Given the description of an element on the screen output the (x, y) to click on. 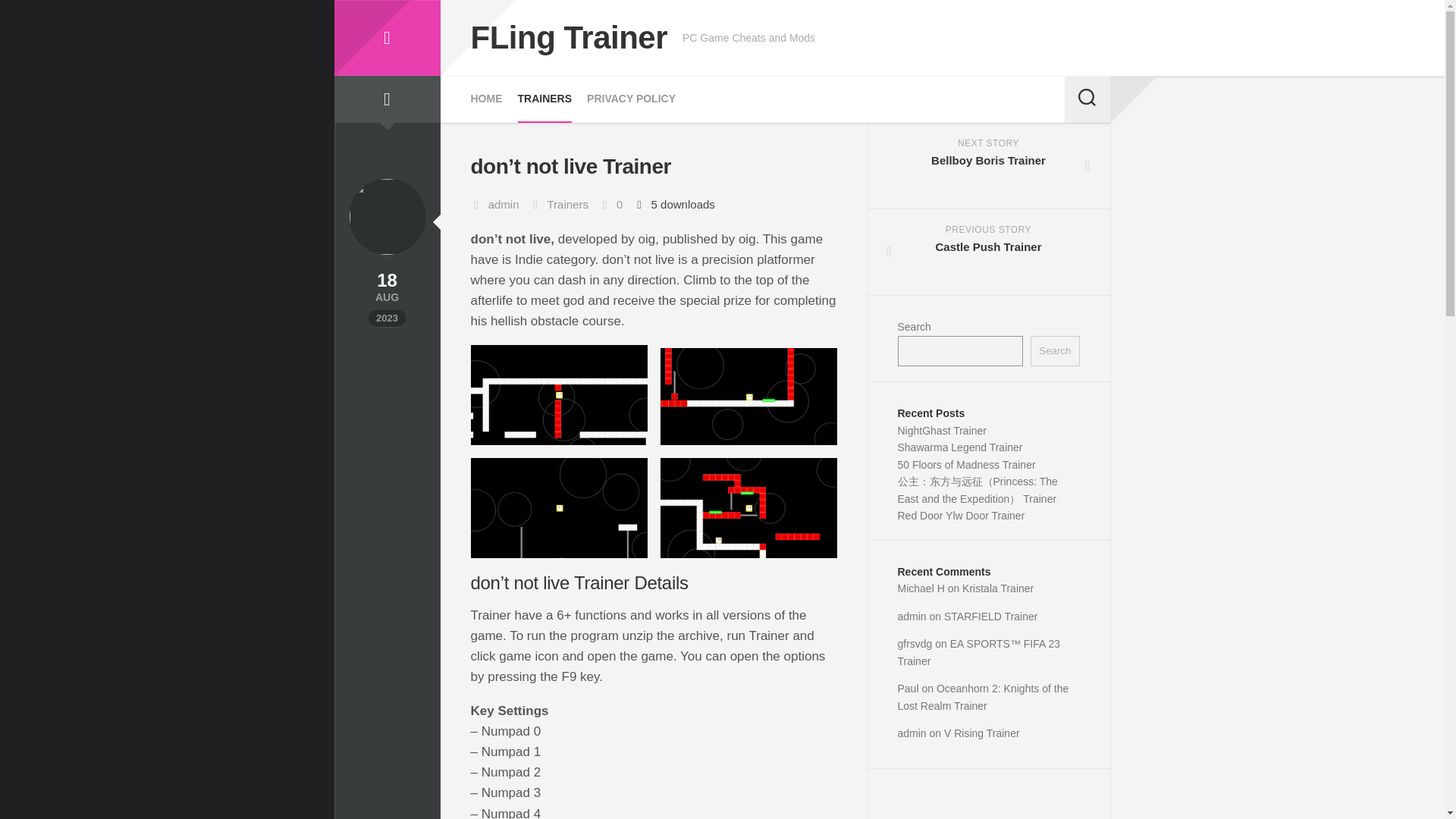
STARFIELD Trainer (989, 615)
admin (912, 615)
admin (503, 204)
Posts by admin (503, 204)
50 Floors of Madness Trainer (988, 252)
Search (966, 463)
FLing Trainer (1054, 350)
Kristala Trainer (568, 37)
Red Door Ylw Door Trainer (997, 588)
FLing Trainer (961, 515)
PRIVACY POLICY (988, 165)
TRAINERS (386, 38)
Trainers (630, 98)
